Given the description of an element on the screen output the (x, y) to click on. 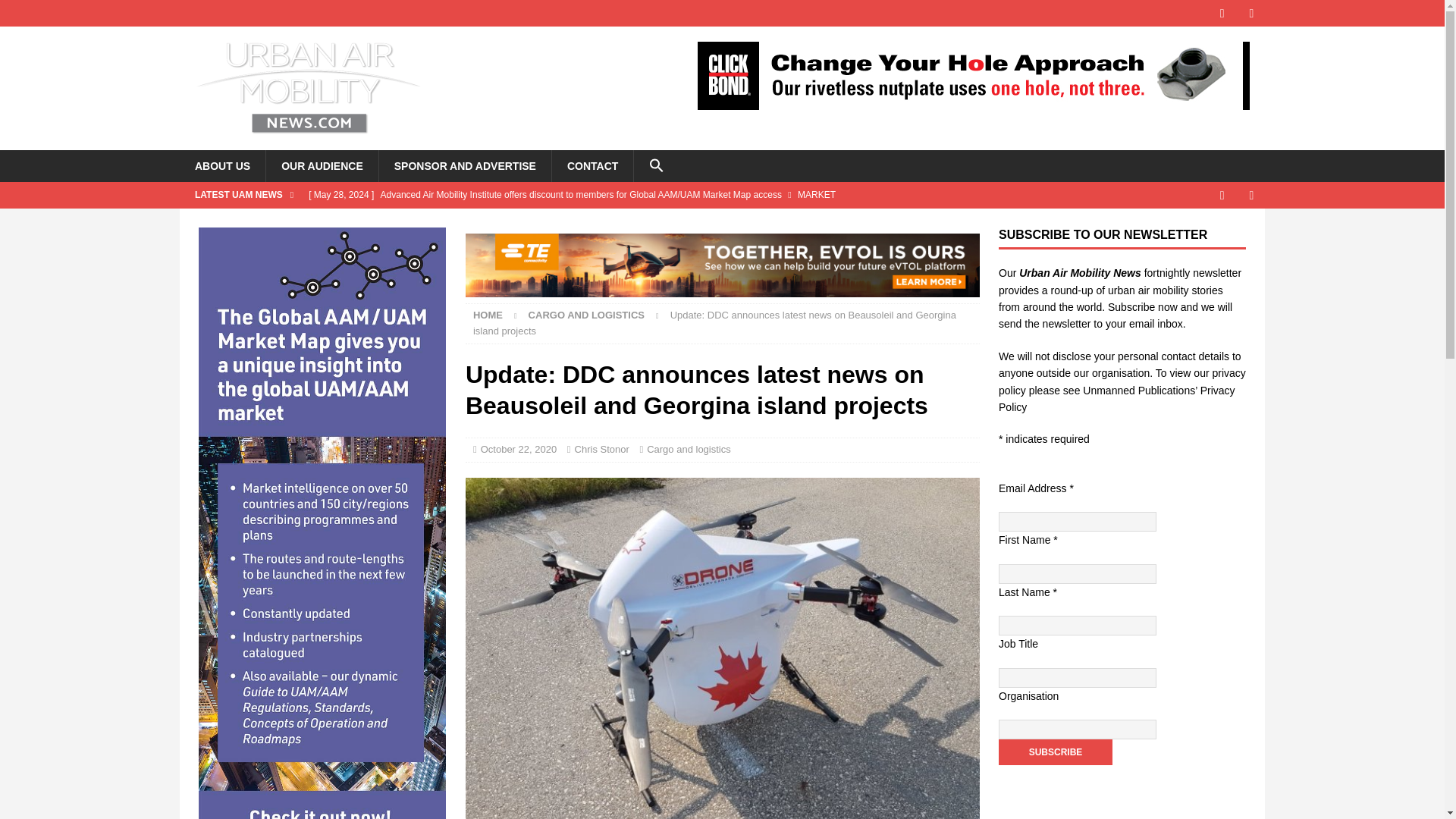
CARGO AND LOGISTICS (586, 315)
Cargo and logistics (586, 315)
CONTACT (592, 165)
Home (487, 315)
October 22, 2020 (518, 449)
Cargo and logistics (688, 449)
Subscribe (1055, 751)
SPONSOR AND ADVERTISE (464, 165)
HOME (487, 315)
